Given the description of an element on the screen output the (x, y) to click on. 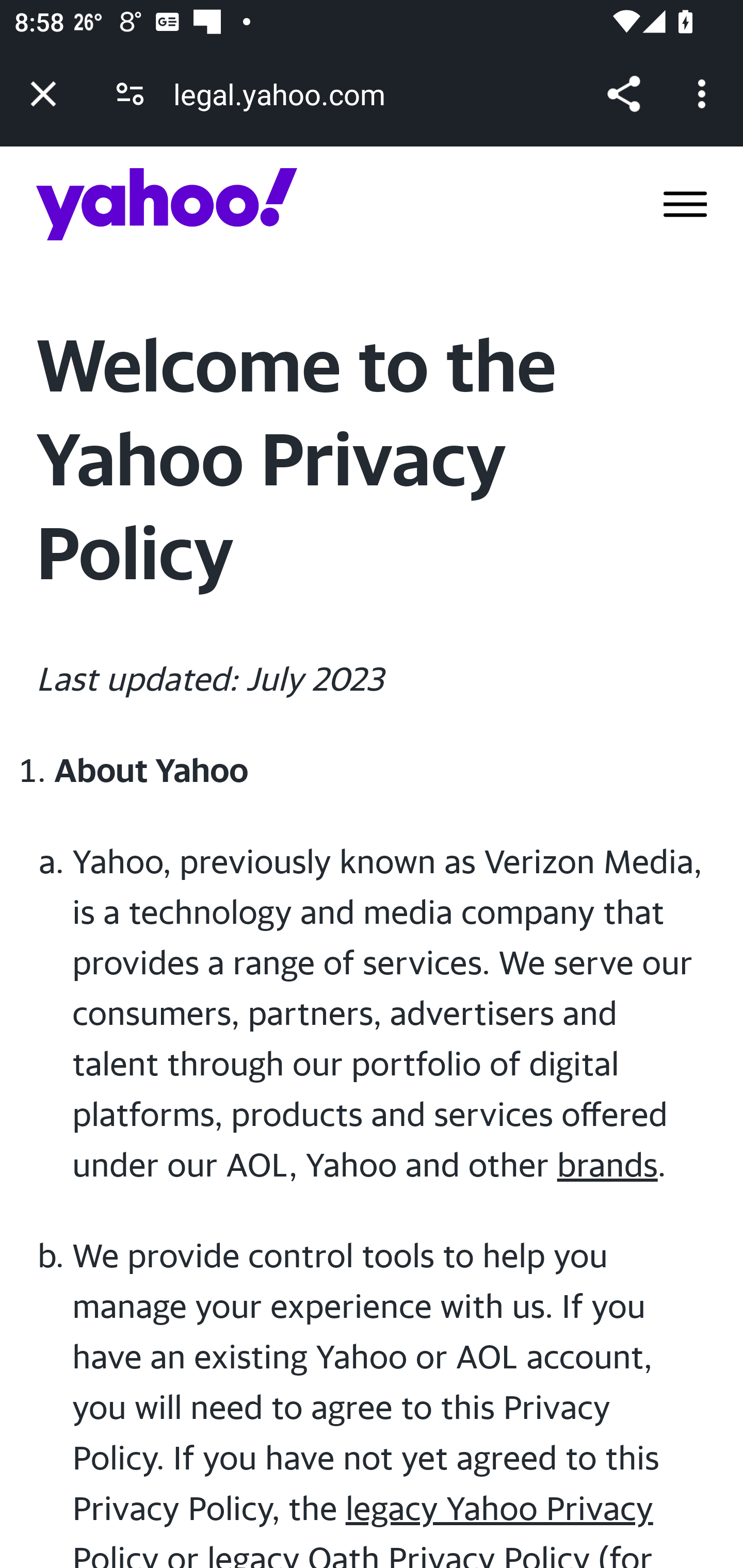
Close tab (43, 93)
Share (623, 93)
Customize and control Google Chrome (705, 93)
Connection is secure (129, 93)
legal.yahoo.com (286, 93)
Yahoo logo (166, 203)
brands (607, 1163)
legacy Yahoo Privacy Policy (362, 1528)
